Given the description of an element on the screen output the (x, y) to click on. 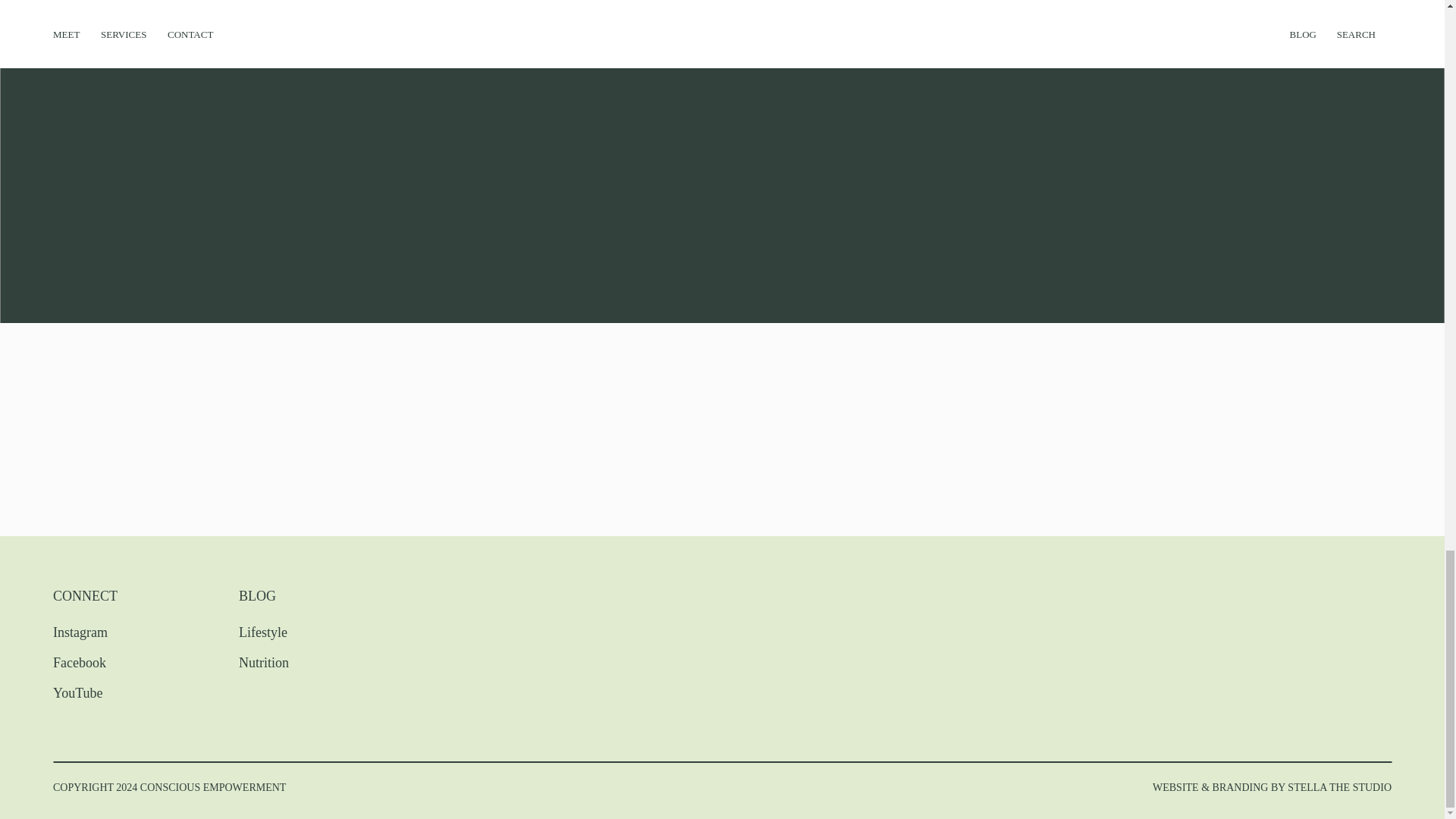
Instagram (104, 630)
Facebook (104, 660)
YouTube (104, 691)
Nutrition (290, 660)
Lifestyle (290, 630)
